Given the description of an element on the screen output the (x, y) to click on. 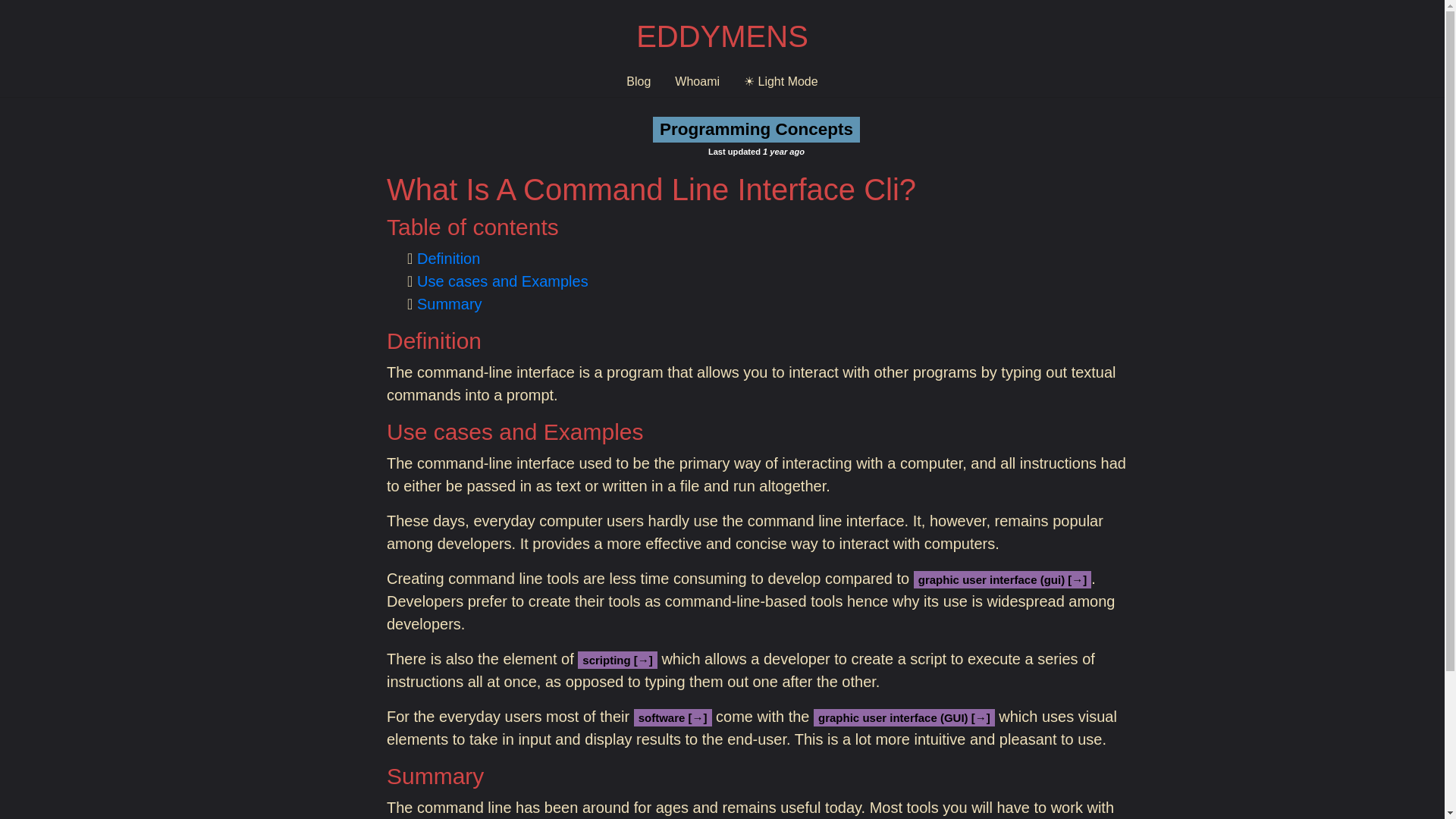
Whoami (697, 81)
Definition (448, 258)
Programming Concepts (756, 129)
Use cases and Examples (502, 280)
Summary (448, 303)
Blog (638, 81)
